Given the description of an element on the screen output the (x, y) to click on. 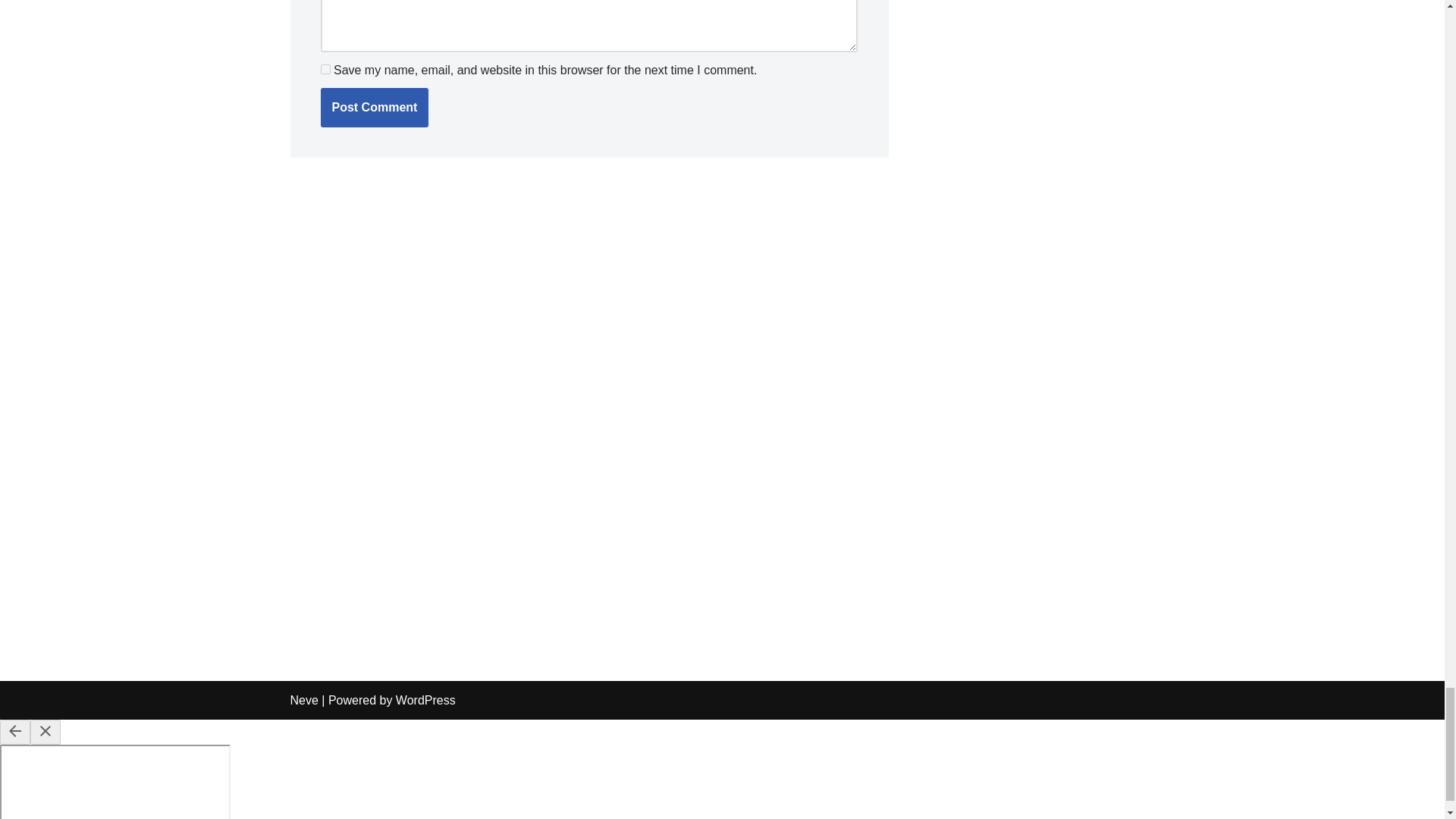
Post Comment (374, 107)
yes (325, 69)
WordPress (425, 699)
Post Comment (374, 107)
Neve (303, 699)
